Given the description of an element on the screen output the (x, y) to click on. 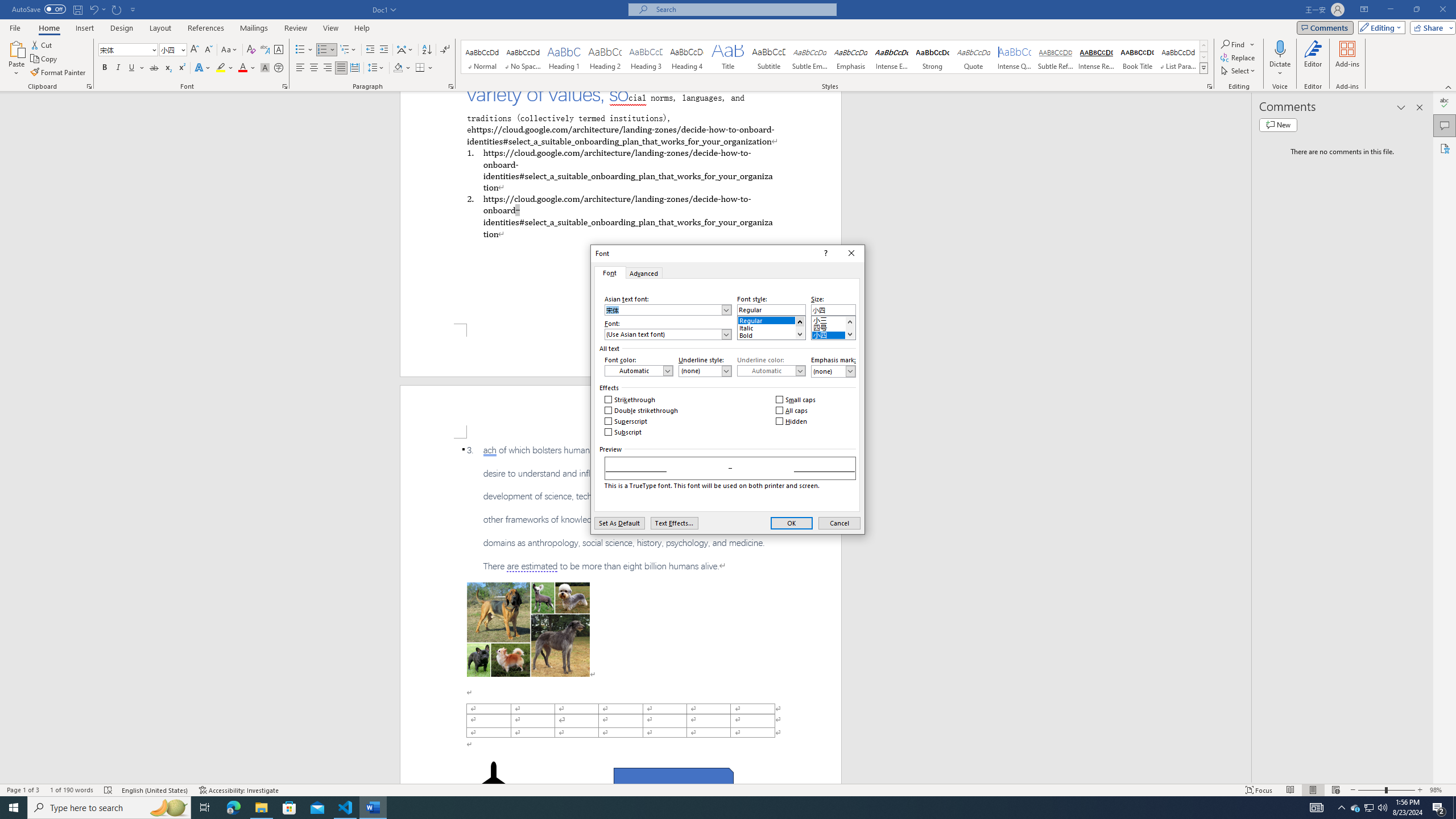
Show/Hide Editing Marks (444, 49)
Heading 2 (605, 56)
Cancel (839, 522)
AutomationID: 4105 (1316, 807)
Strong (932, 56)
Text Effects... (673, 522)
Font Color (Automatic) (638, 370)
Type here to search (108, 807)
